Given the description of an element on the screen output the (x, y) to click on. 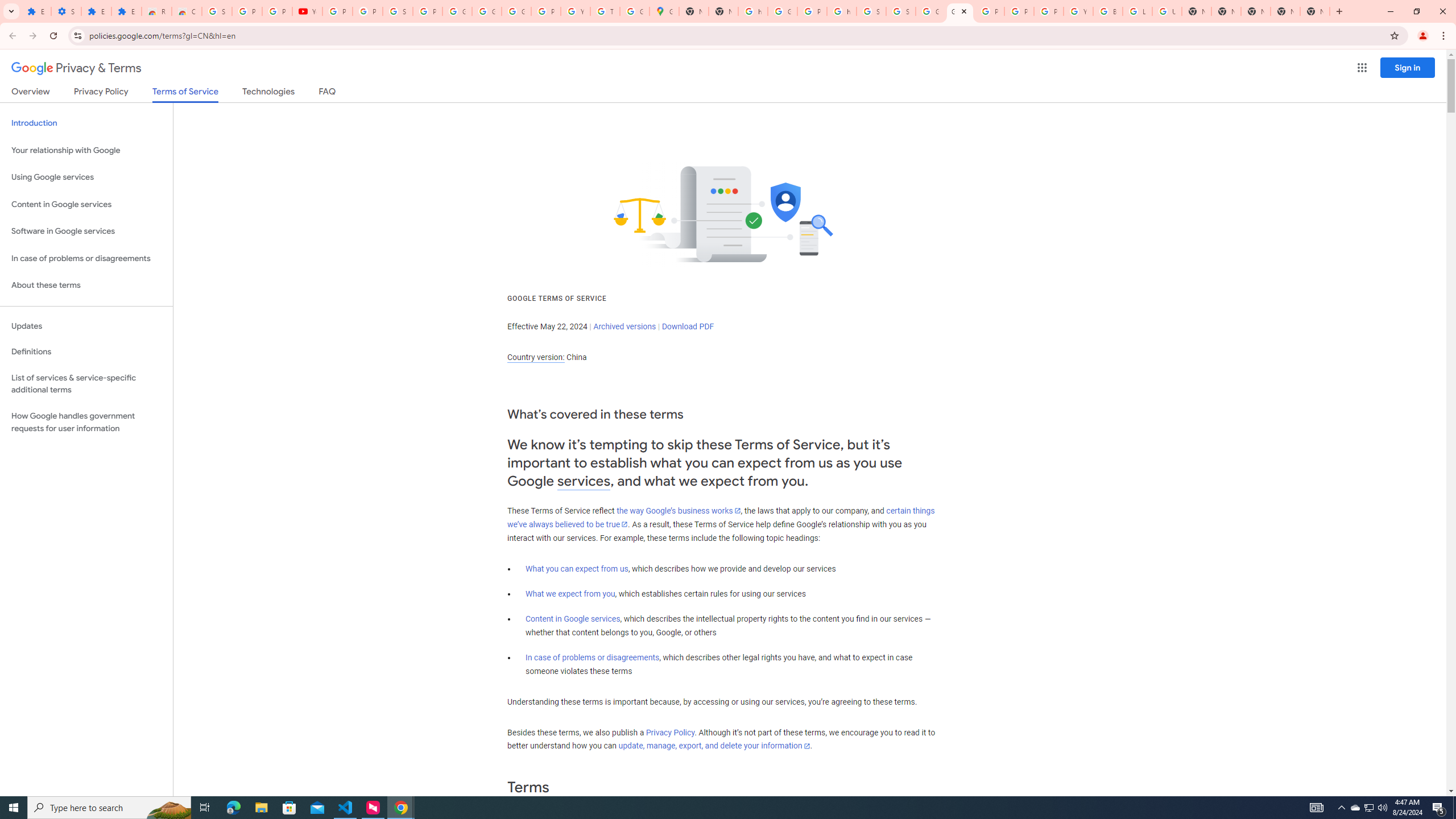
Your relationship with Google (86, 150)
Download PDF (687, 326)
Privacy Help Center - Policies Help (989, 11)
Extensions (95, 11)
Definitions (86, 352)
Reviews: Helix Fruit Jump Arcade Game (156, 11)
Sign in - Google Accounts (871, 11)
